Given the description of an element on the screen output the (x, y) to click on. 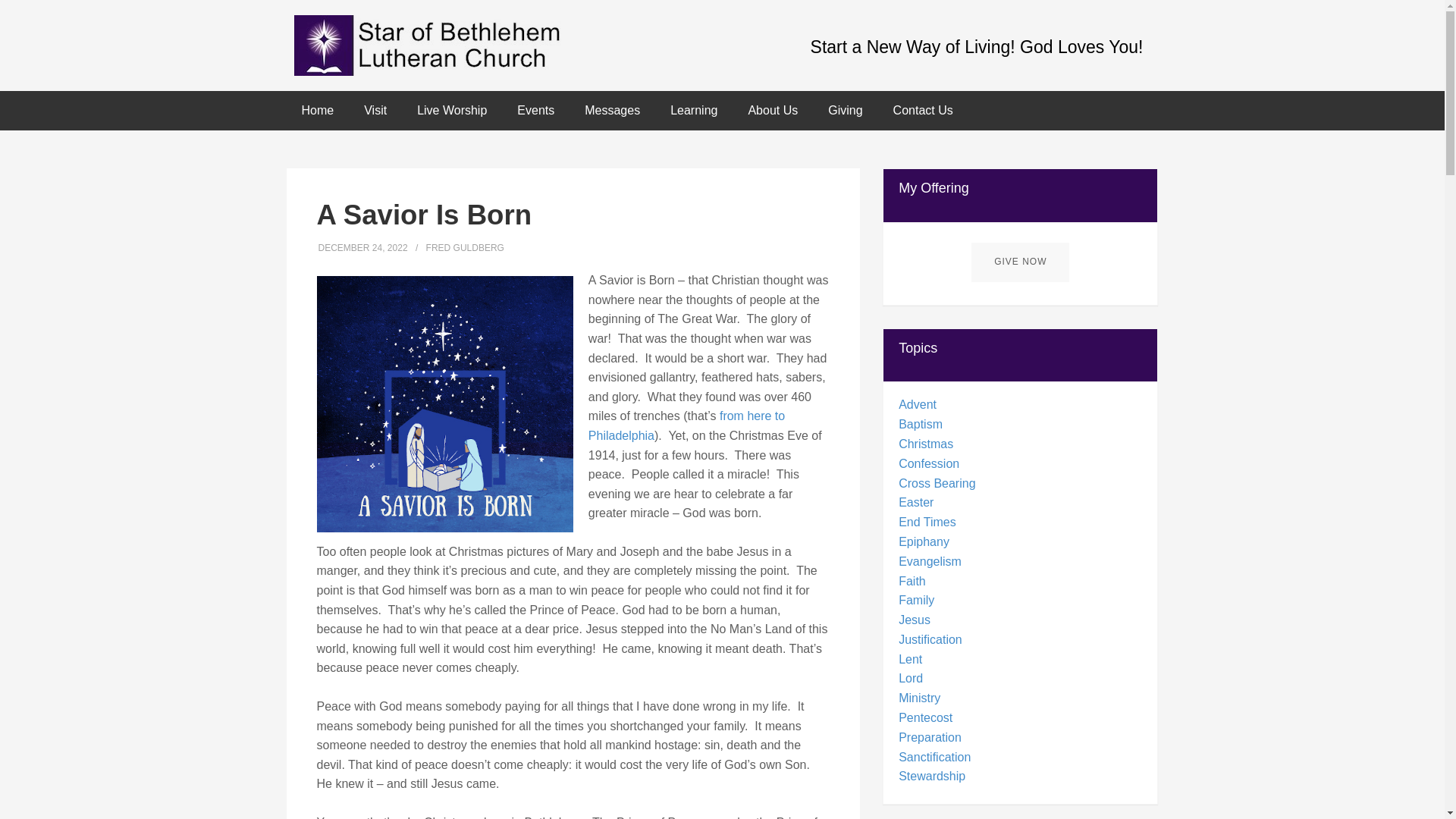
Home (317, 110)
Confession (928, 463)
Faith (912, 581)
Epiphany (923, 541)
Easter (915, 502)
Giving (844, 110)
Live Worship (451, 110)
View all posts by Fred Guldberg (464, 247)
Christmas (925, 443)
Learning (693, 110)
Messages (612, 110)
Events (535, 110)
Give Now (1019, 261)
Evangelism (929, 561)
from here to Philadelphia (686, 425)
